Given the description of an element on the screen output the (x, y) to click on. 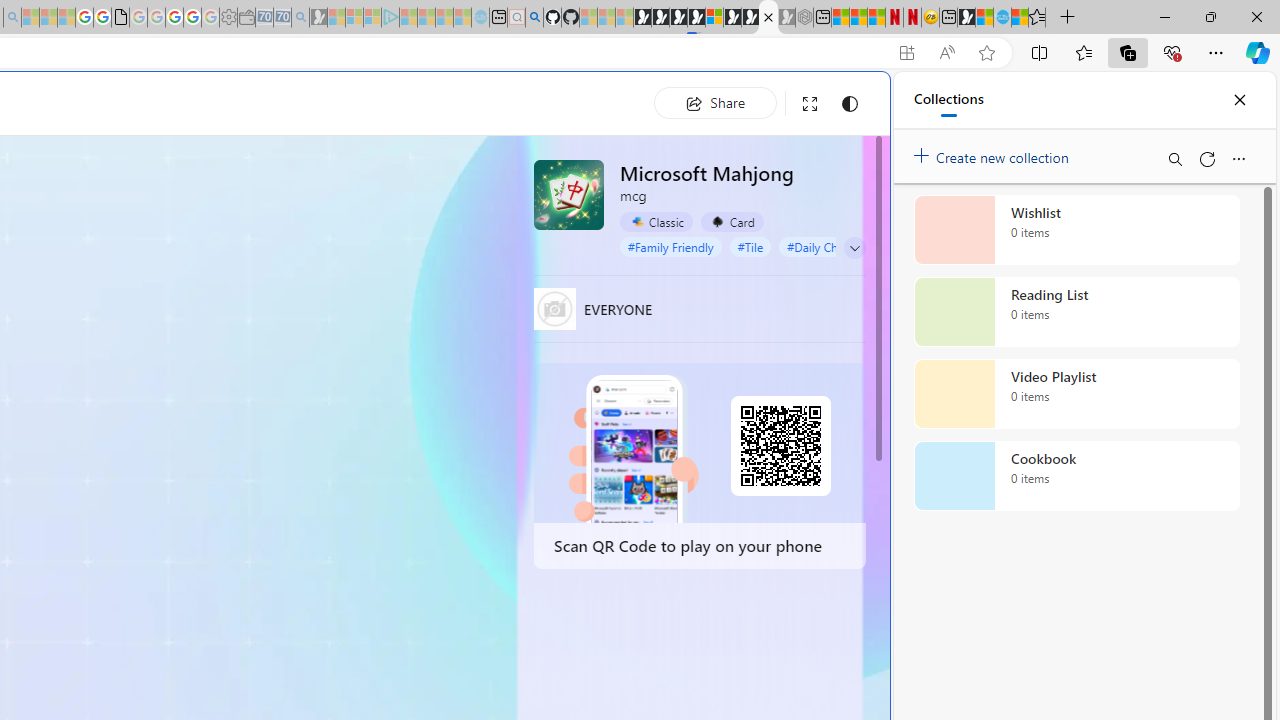
Share (715, 102)
Tabs you've opened (276, 265)
Full screen (810, 103)
Class: control (855, 248)
